Given the description of an element on the screen output the (x, y) to click on. 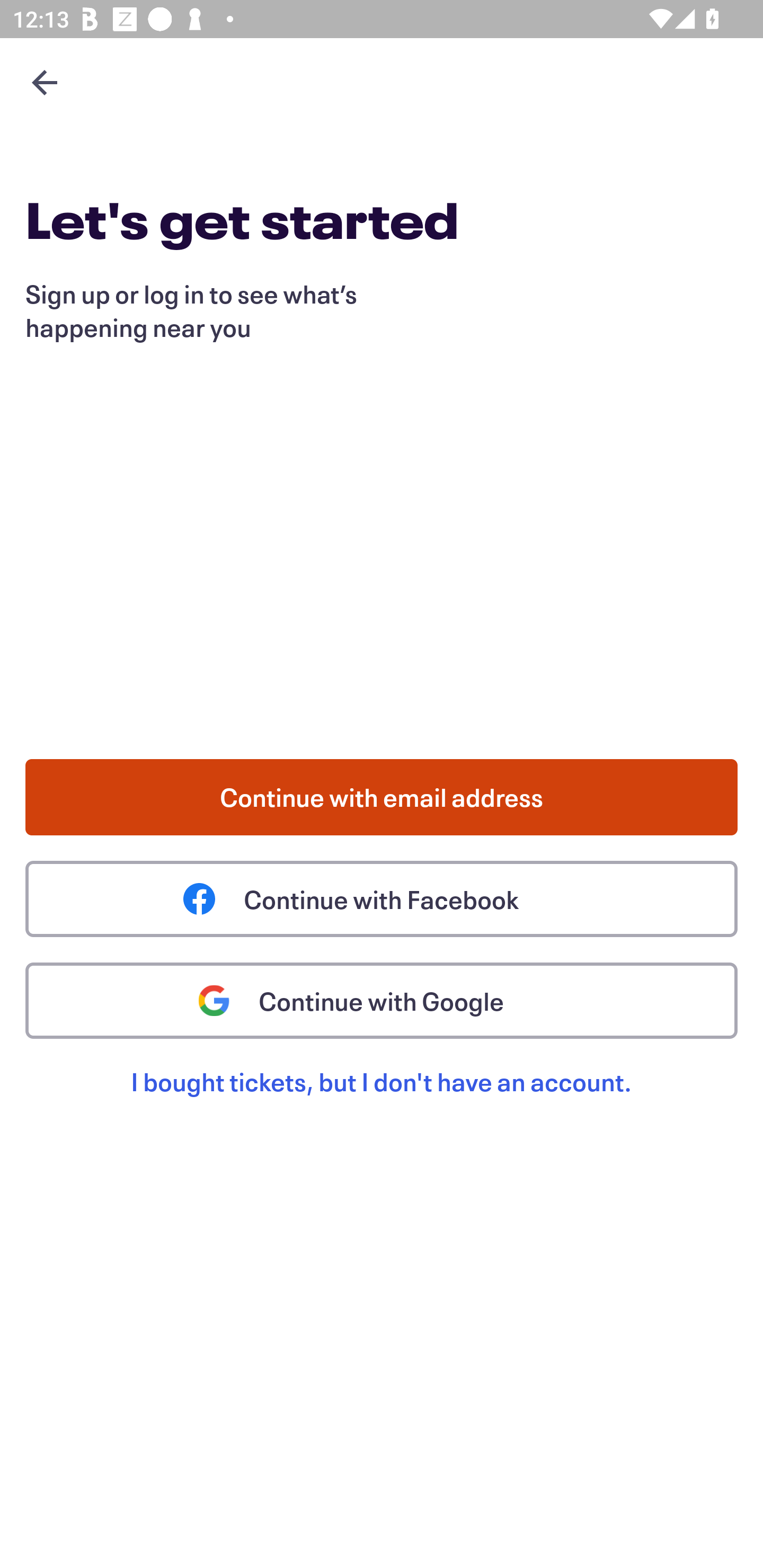
Navigate up (44, 82)
Continue with email address (381, 796)
I bought tickets, but I don't have an account. (381, 1101)
